Given the description of an element on the screen output the (x, y) to click on. 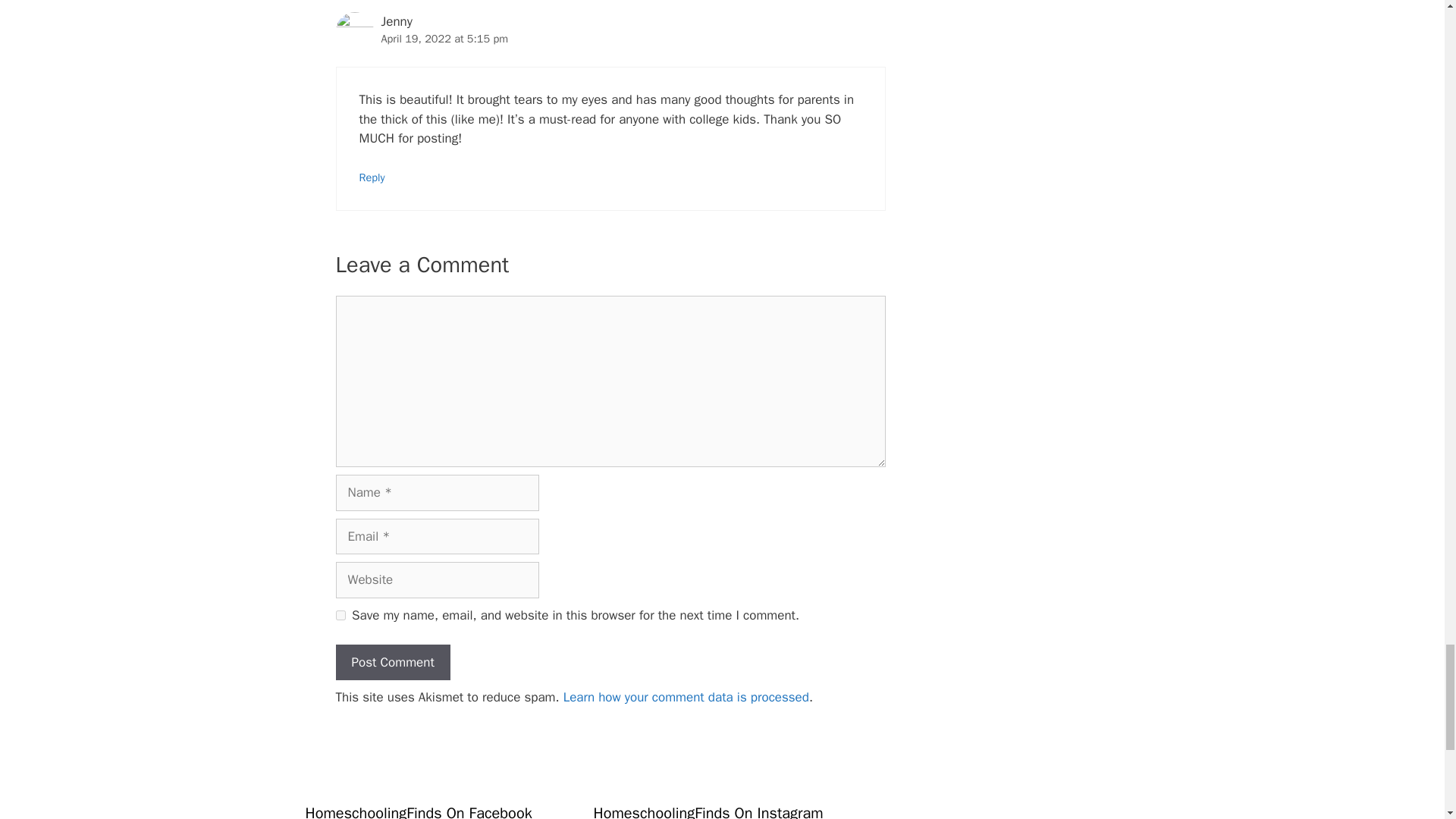
April 19, 2022 at 5:15 pm (444, 38)
Post Comment (391, 662)
yes (339, 614)
Reply (372, 177)
